Given the description of an element on the screen output the (x, y) to click on. 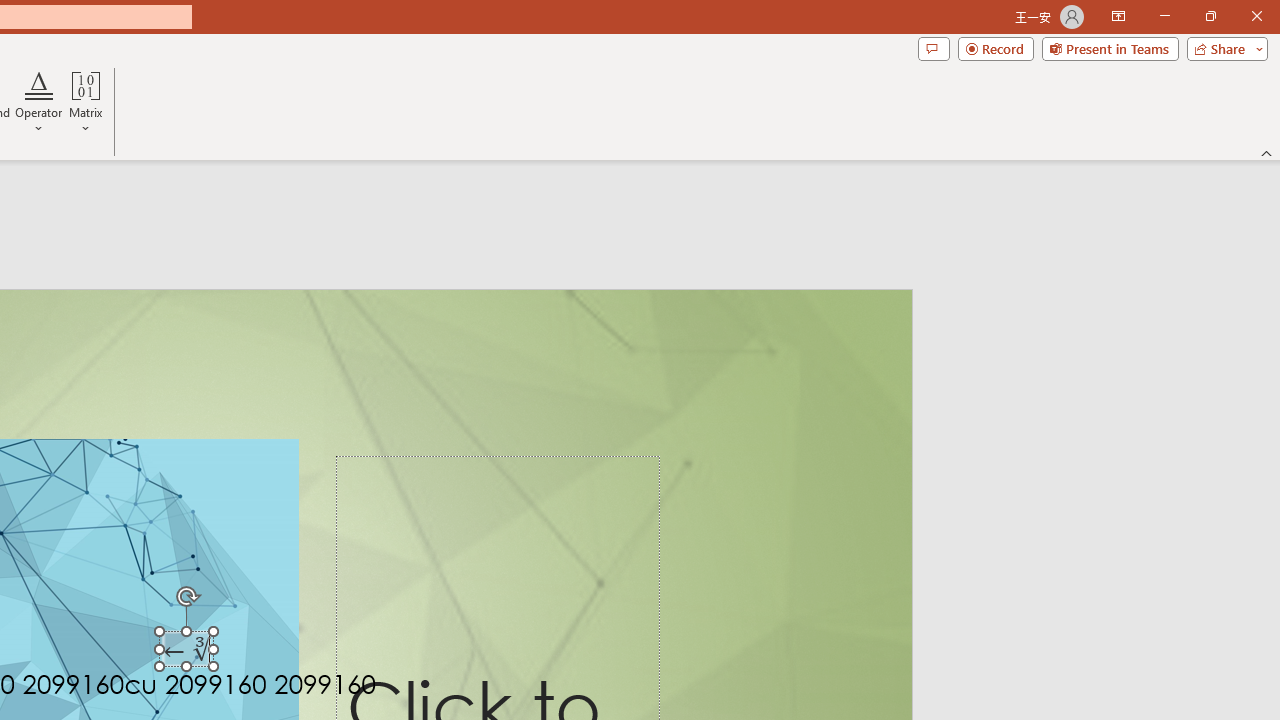
Operator (38, 102)
Matrix (86, 102)
